Given the description of an element on the screen output the (x, y) to click on. 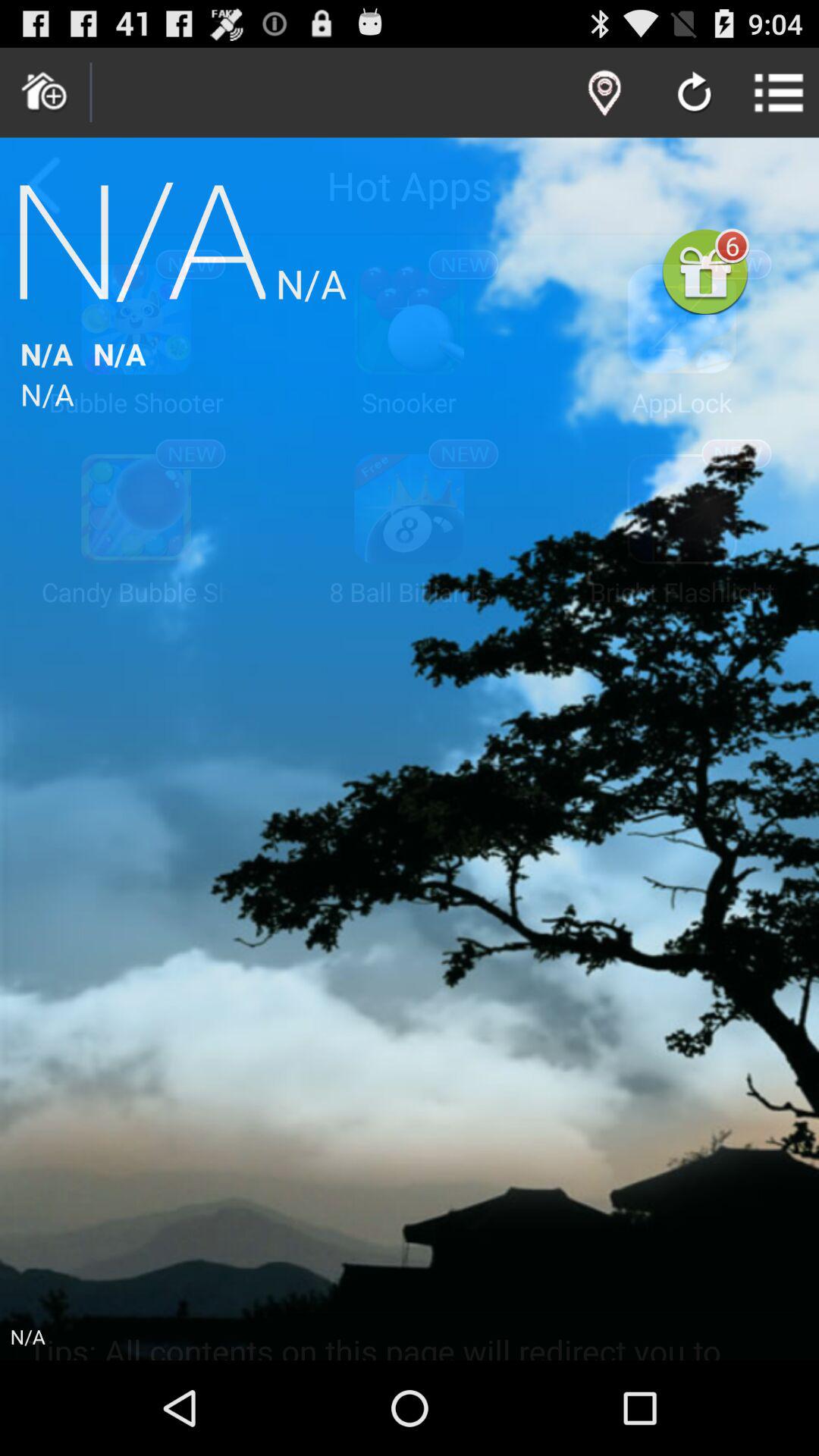
tap app above the 6 app (779, 92)
